Given the description of an element on the screen output the (x, y) to click on. 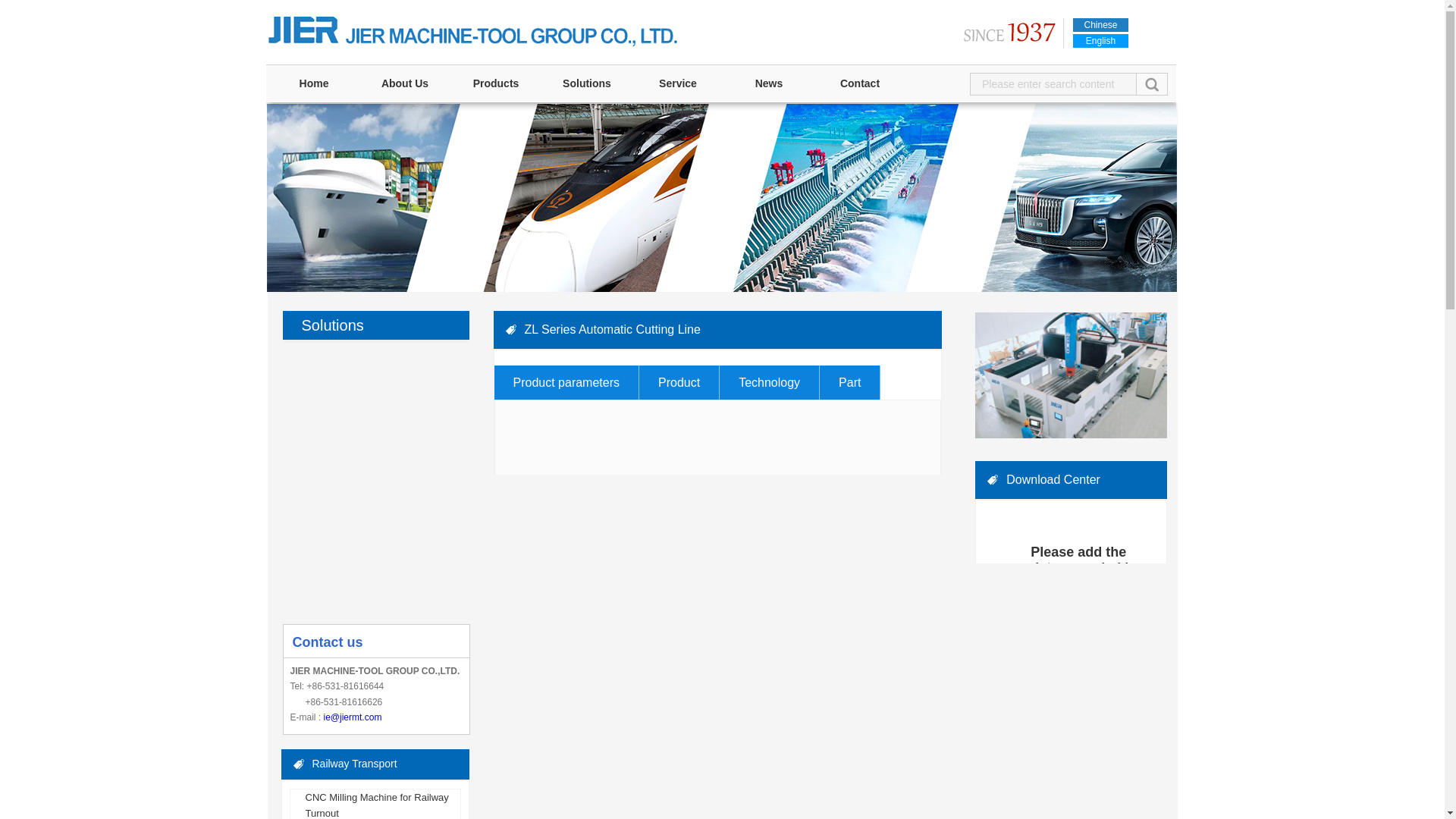
News (769, 83)
Service (678, 83)
chinese (1100, 24)
Products (496, 83)
English (1100, 40)
Solutions (586, 83)
Chinese (1100, 24)
About Us (404, 83)
Home (314, 83)
English (1100, 40)
Contact (859, 83)
